Given the description of an element on the screen output the (x, y) to click on. 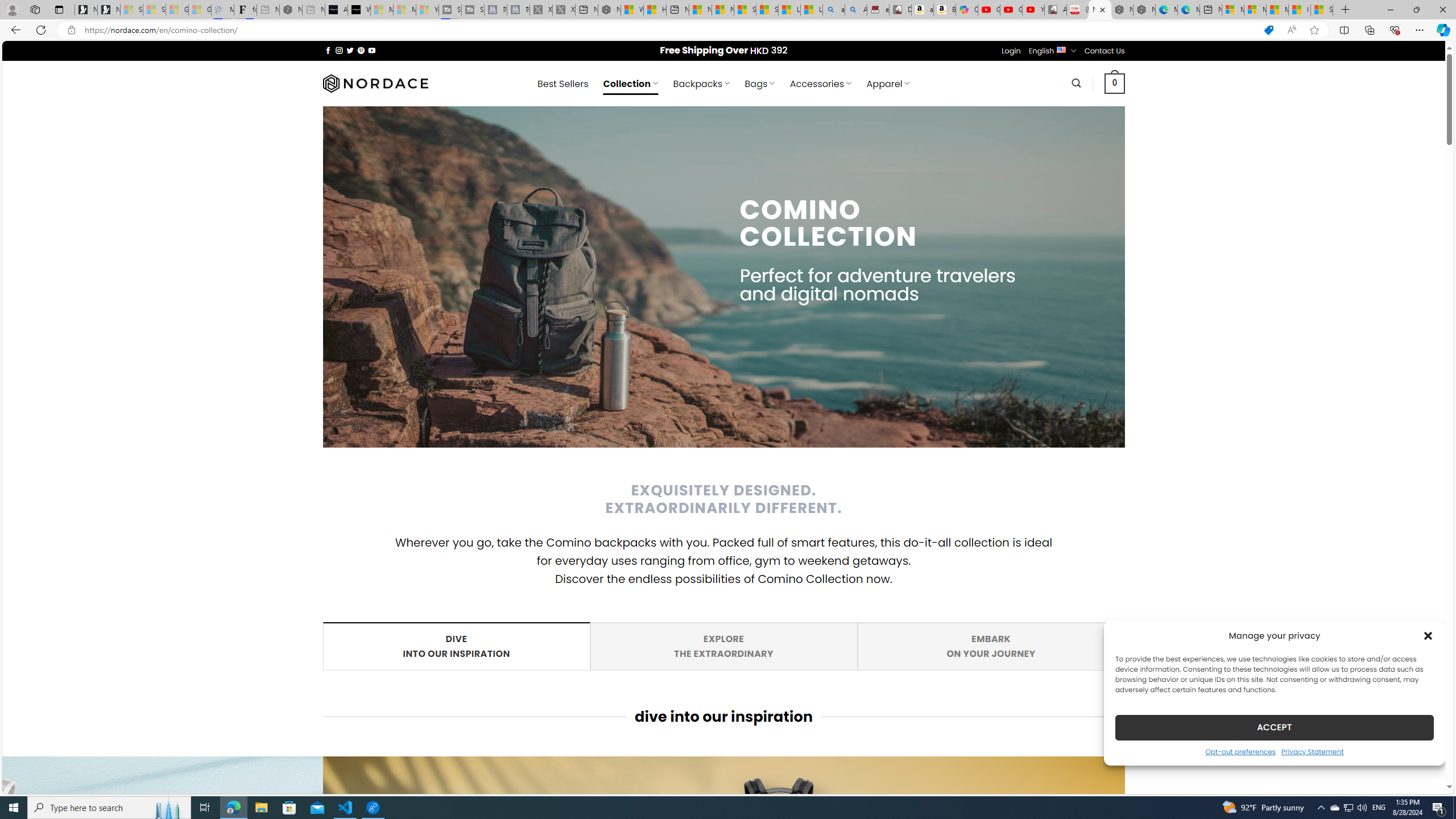
I Gained 20 Pounds of Muscle in 30 Days! | Watch (1300, 9)
New tab - Sleeping (313, 9)
DIVE INTO OUR INSPIRATION (455, 645)
Gloom - YouTube (1010, 9)
Nordace - My Account (609, 9)
Privacy Statement (723, 645)
X - Sleeping (1312, 750)
